Given the description of an element on the screen output the (x, y) to click on. 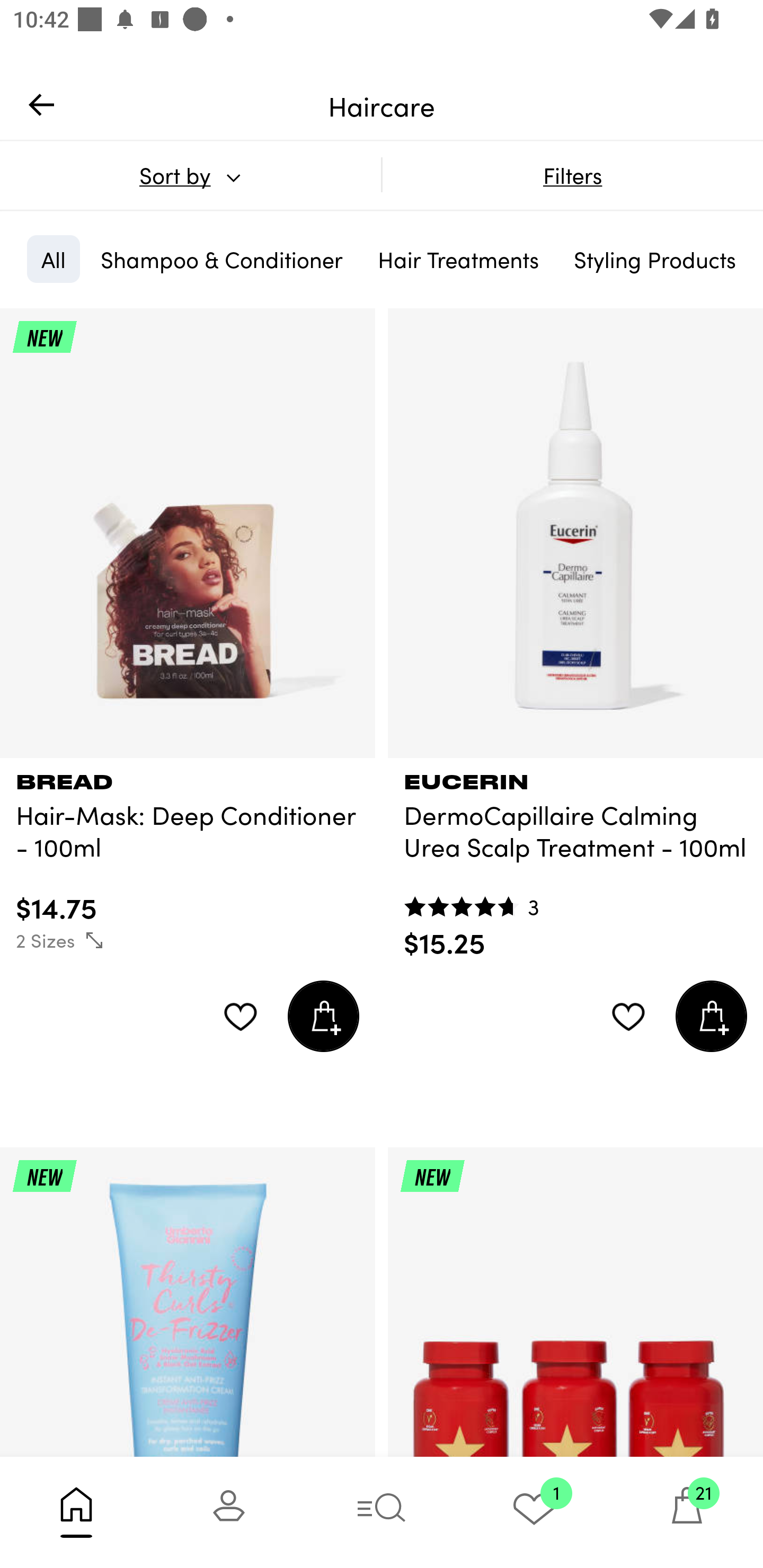
Sort by (190, 174)
Filters (572, 174)
All (53, 258)
Shampoo & Conditioner (221, 258)
Hair Treatments (458, 258)
Styling Products (654, 258)
1 (533, 1512)
21 (686, 1512)
